Given the description of an element on the screen output the (x, y) to click on. 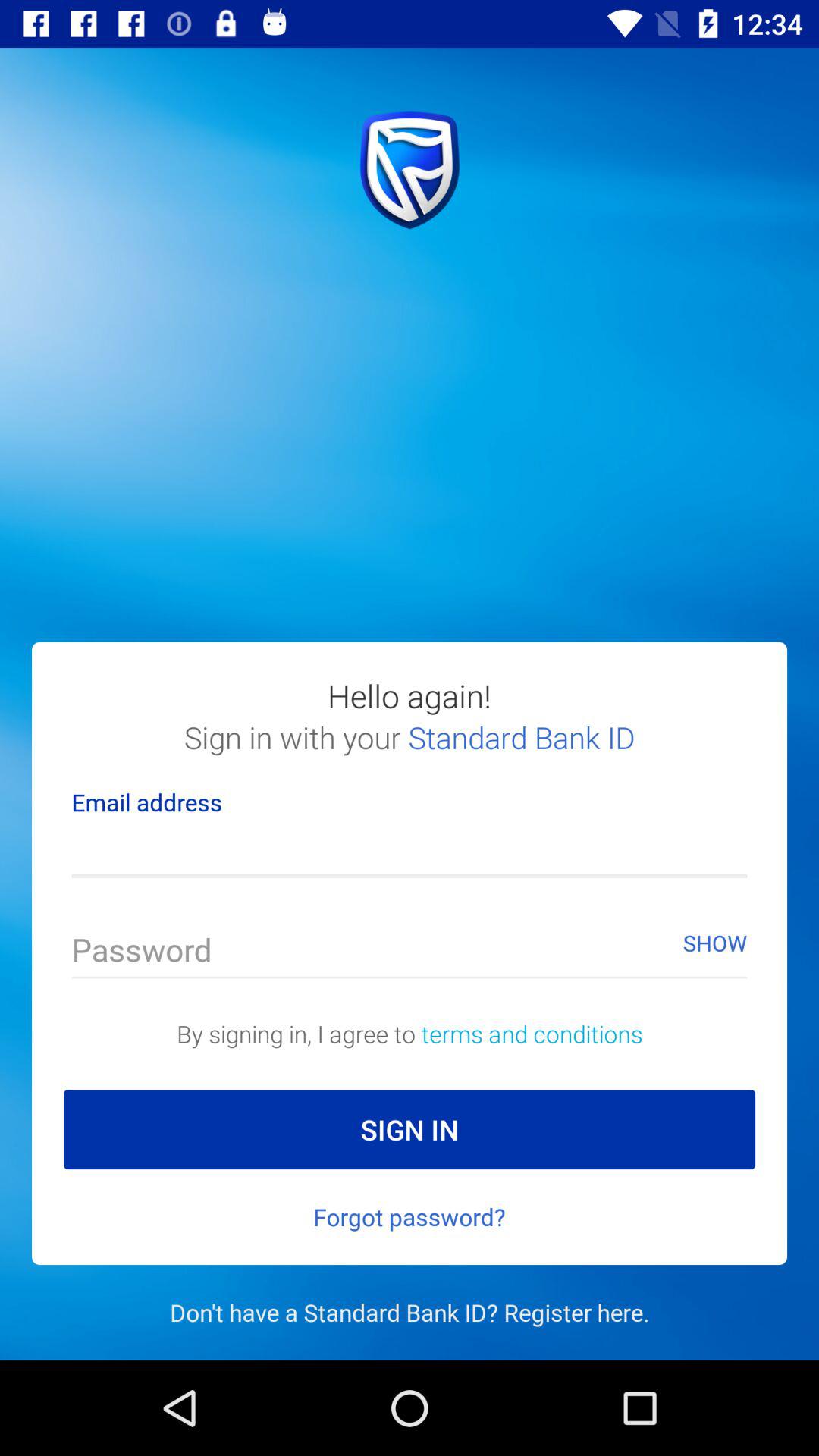
fill in my email address (409, 851)
